Given the description of an element on the screen output the (x, y) to click on. 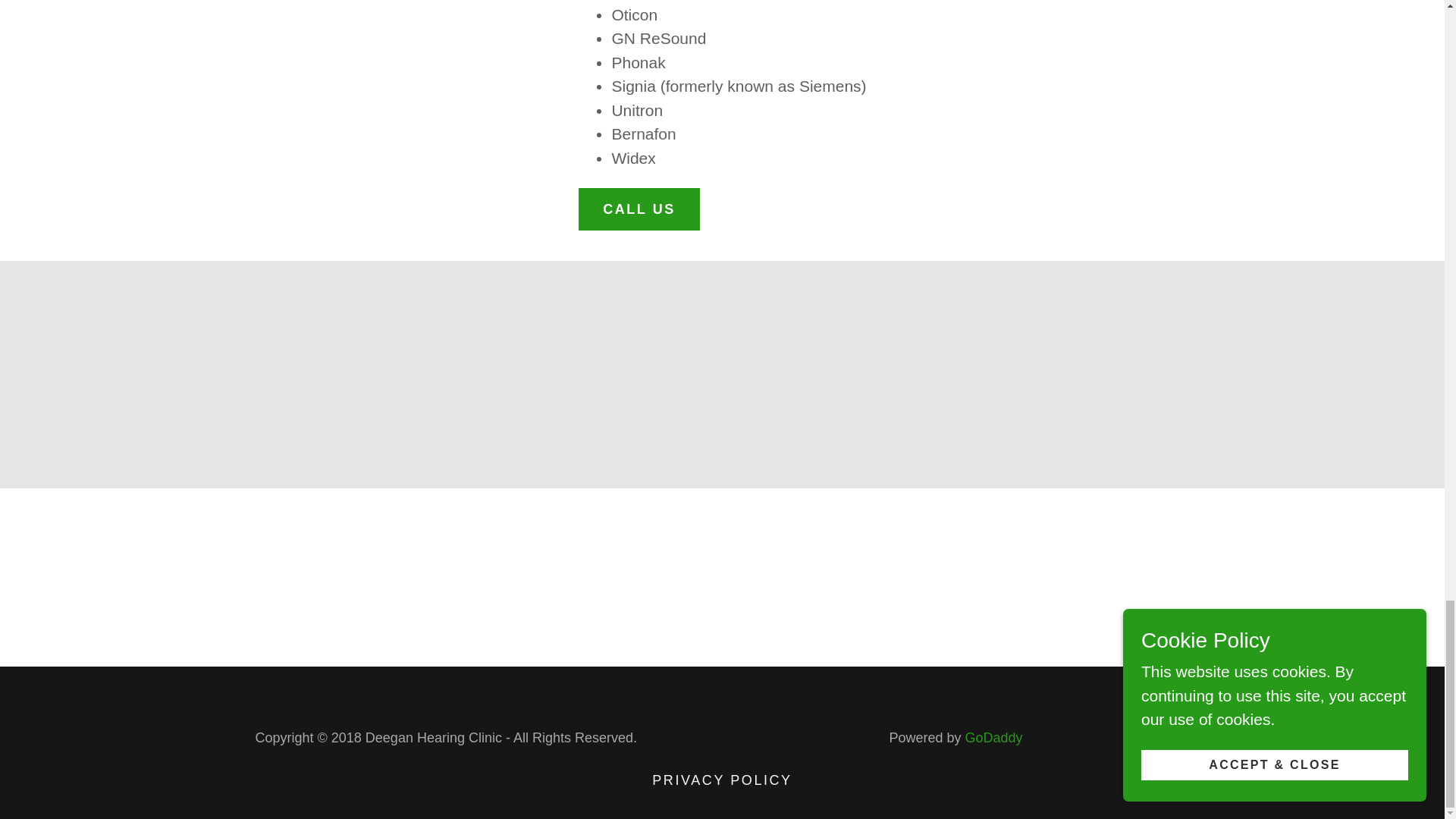
GoDaddy (992, 737)
CALL US (639, 209)
PRIVACY POLICY (721, 780)
